Given the description of an element on the screen output the (x, y) to click on. 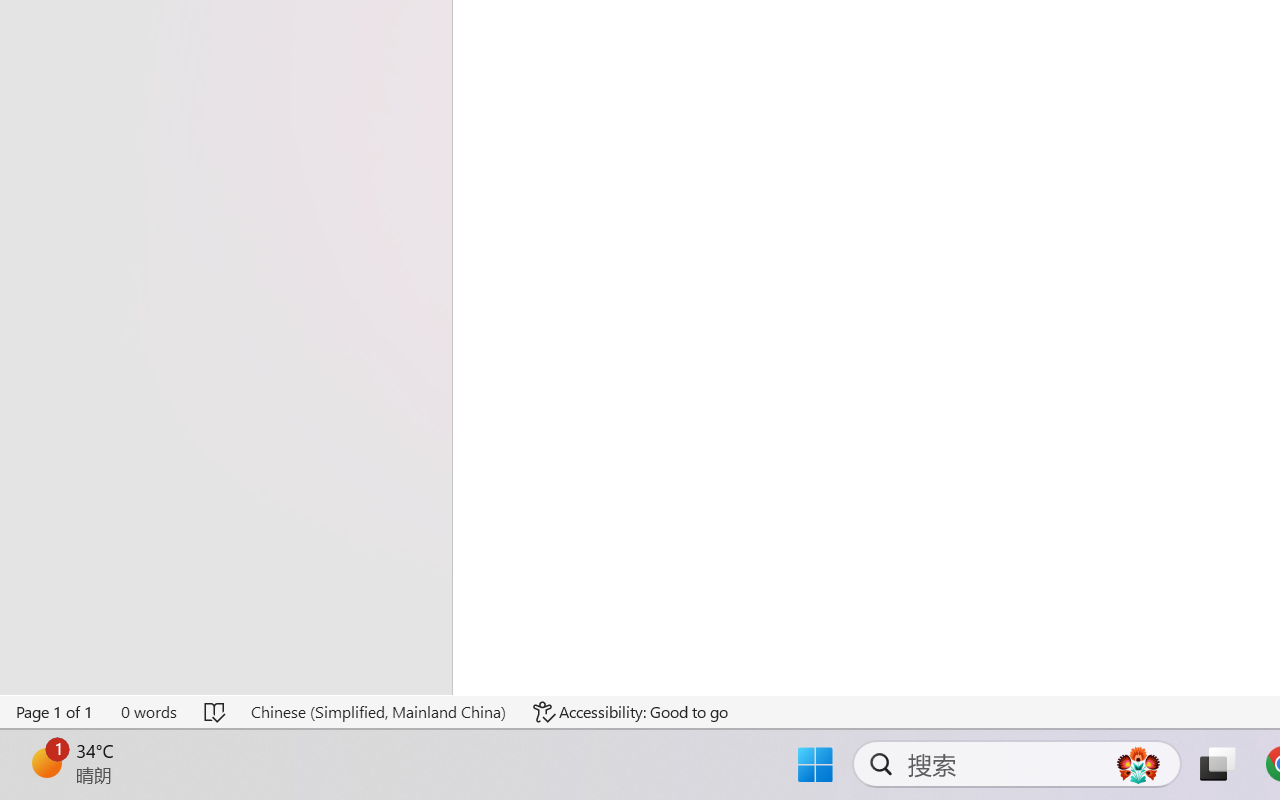
Language Chinese (Simplified, Mainland China) (378, 712)
